Given the description of an element on the screen output the (x, y) to click on. 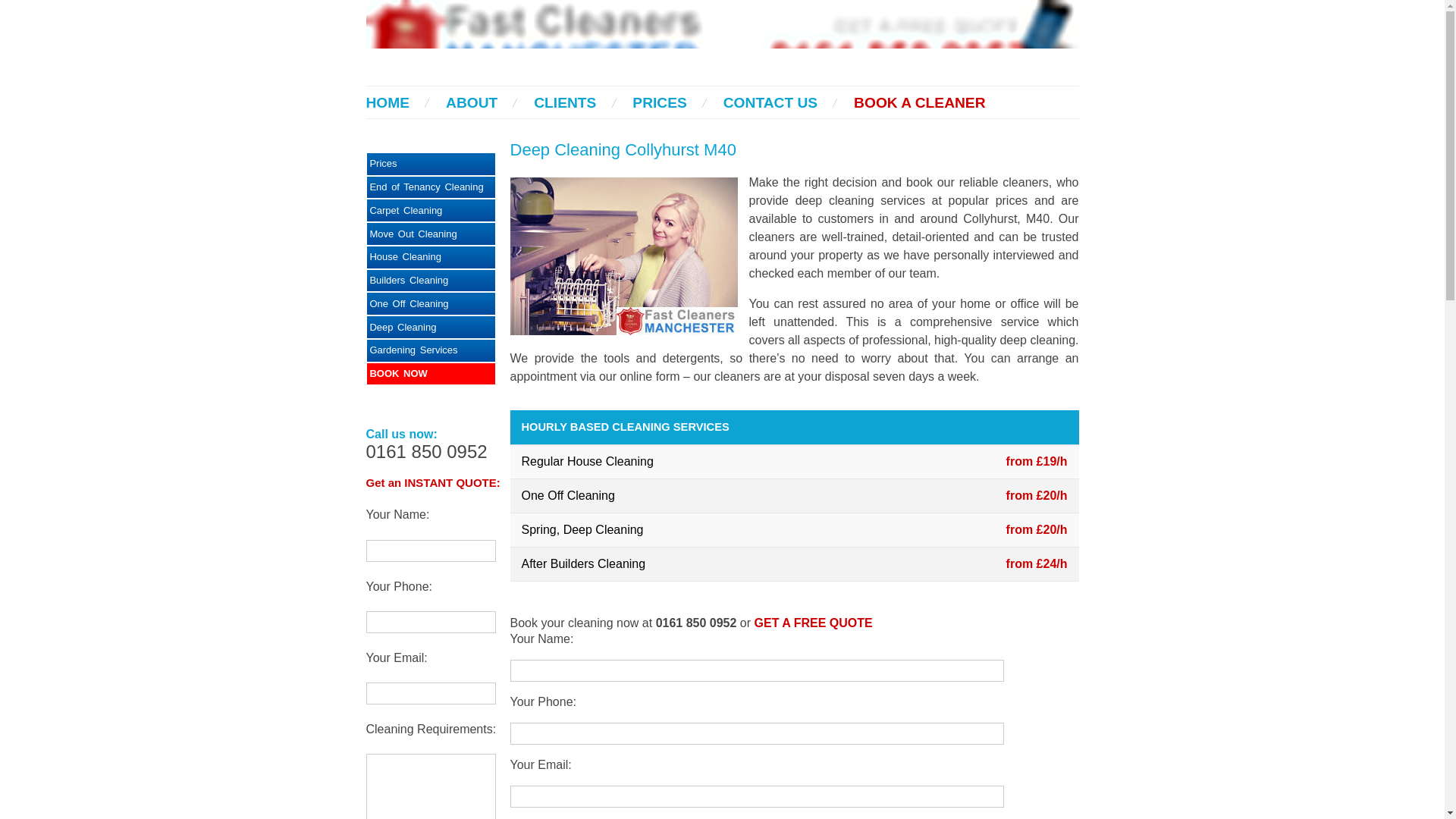
Gardening Services (430, 350)
One Off Cleaning Service (430, 303)
BOOK A CLEANER (919, 102)
End of Tenancy Cleaning (430, 187)
Deep Cleaning Service (430, 350)
ABOUT (471, 102)
PRICES (658, 102)
CLIENTS (564, 102)
Prices (430, 164)
One Off Cleaning (430, 303)
